Given the description of an element on the screen output the (x, y) to click on. 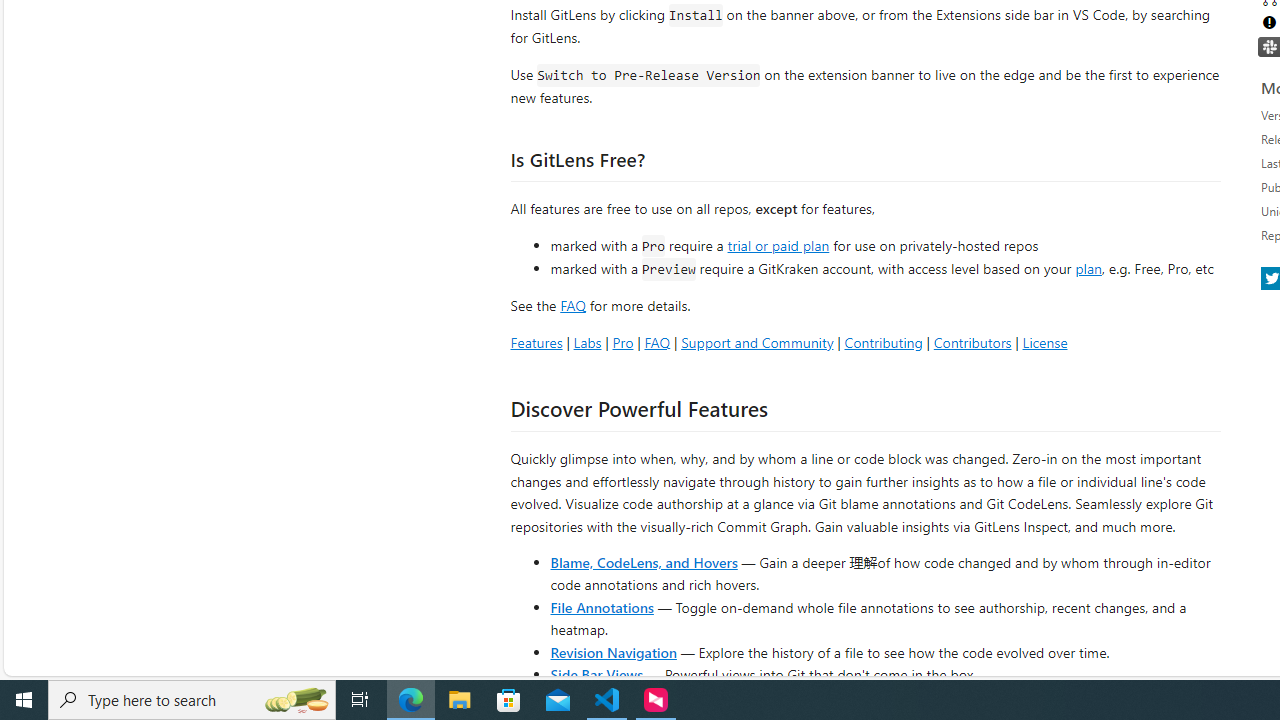
Blame, CodeLens, and Hovers (644, 561)
File Annotations (602, 606)
Contributors (972, 341)
Revision Navigation (613, 651)
trial or paid plan (778, 244)
plan (1088, 269)
Support and Community (757, 341)
Pro (622, 341)
License (1044, 341)
Labs (587, 341)
FAQ (656, 341)
